Given the description of an element on the screen output the (x, y) to click on. 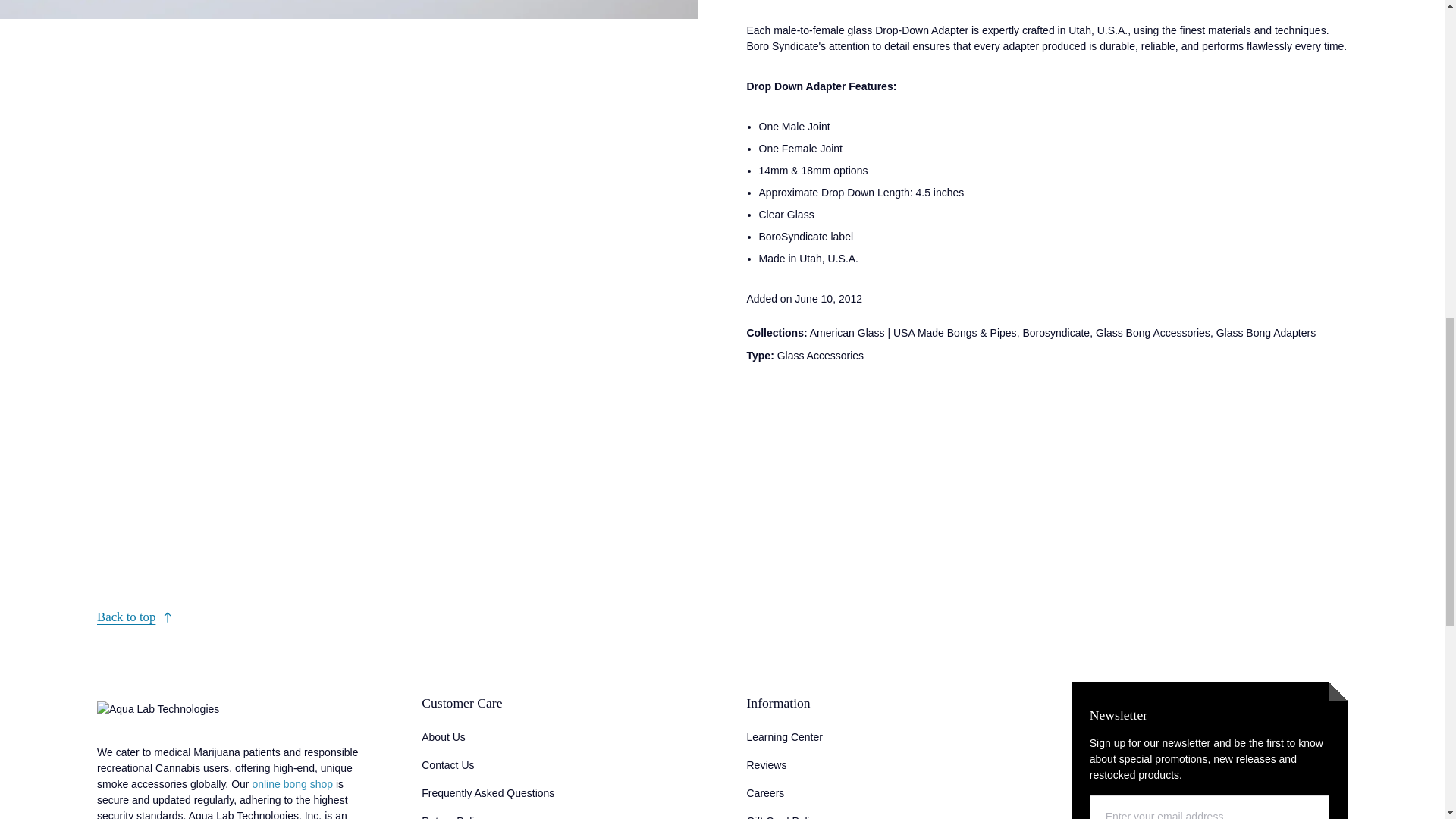
Borosyndicate (1055, 332)
Glass Bong Accessories (1152, 332)
Glass Bong Adapters (1265, 332)
